Given the description of an element on the screen output the (x, y) to click on. 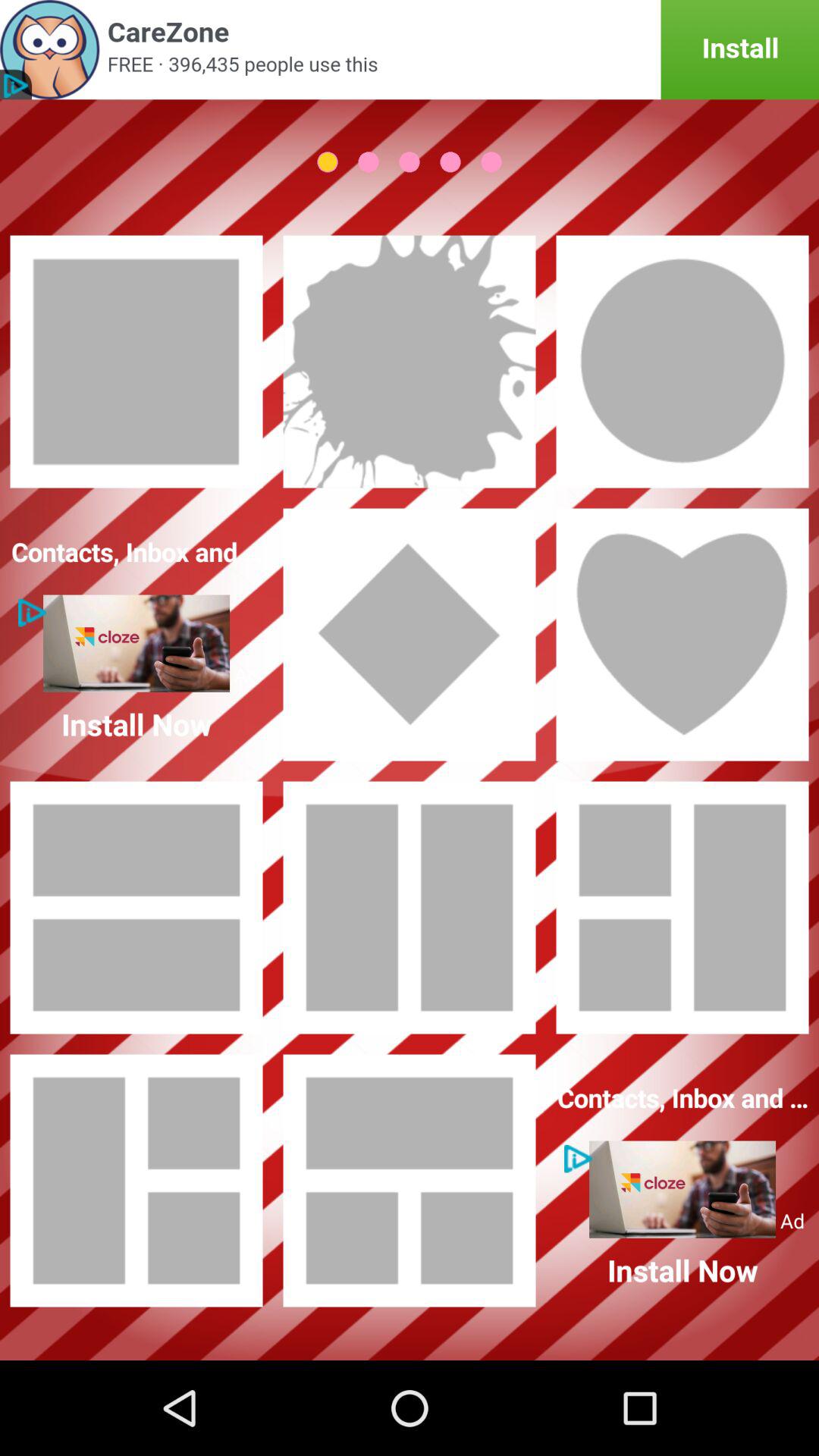
photo colloage (136, 1180)
